Given the description of an element on the screen output the (x, y) to click on. 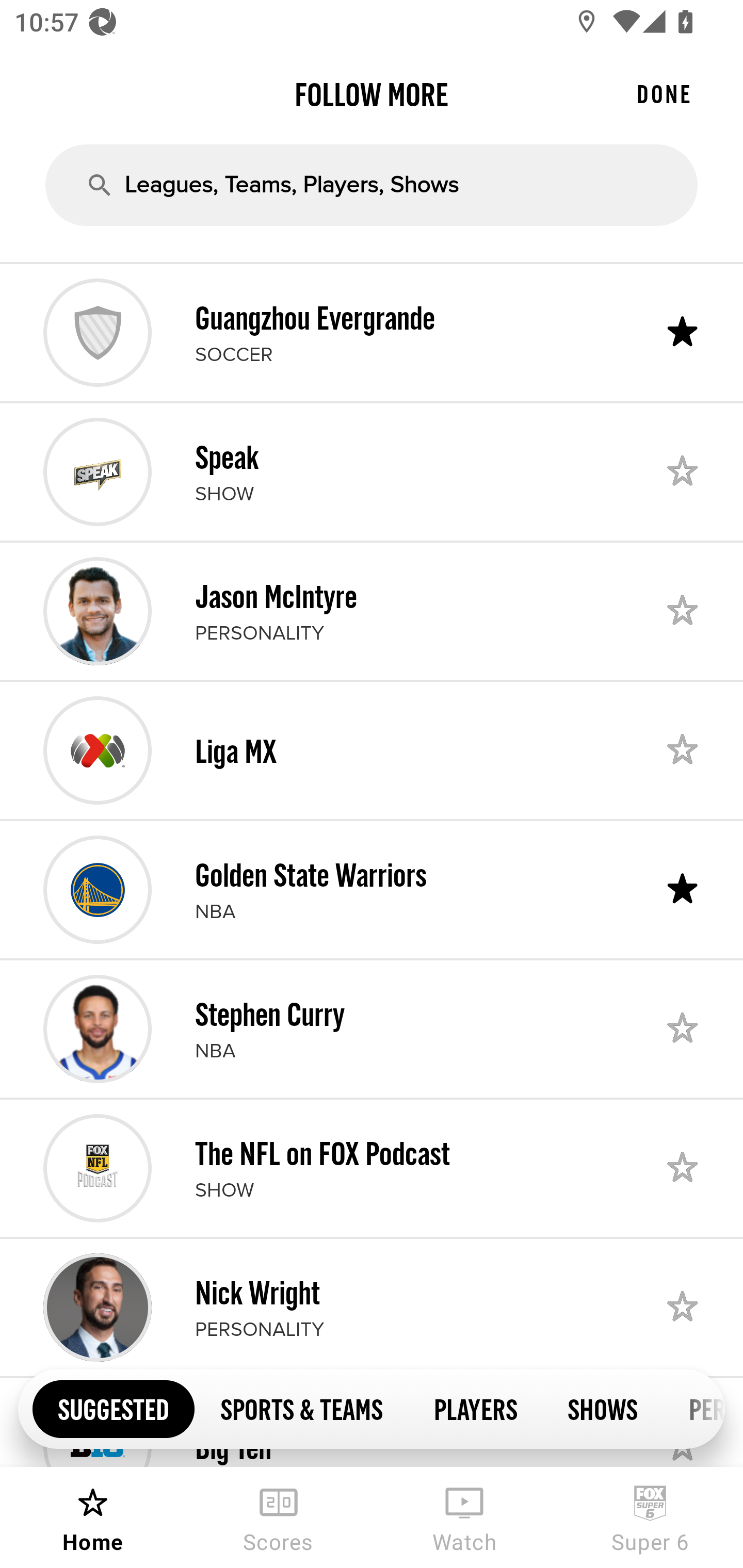
DONE (663, 93)
Leagues, Teams, Players, Shows (371, 184)
Guangzhou Evergrande SOCCER (371, 332)
Speak SHOW (371, 471)
Jason McIntyre PERSONALITY (371, 611)
Liga MX (371, 750)
Golden State Warriors NBA (371, 889)
Stephen Curry NBA (371, 1028)
The NFL on FOX Podcast SHOW (371, 1168)
Nick Wright PERSONALITY (371, 1307)
SPORTS & TEAMS (300, 1408)
PLAYERS (474, 1408)
SHOWS (602, 1408)
Scores (278, 1517)
Watch (464, 1517)
Super 6 (650, 1517)
